Given the description of an element on the screen output the (x, y) to click on. 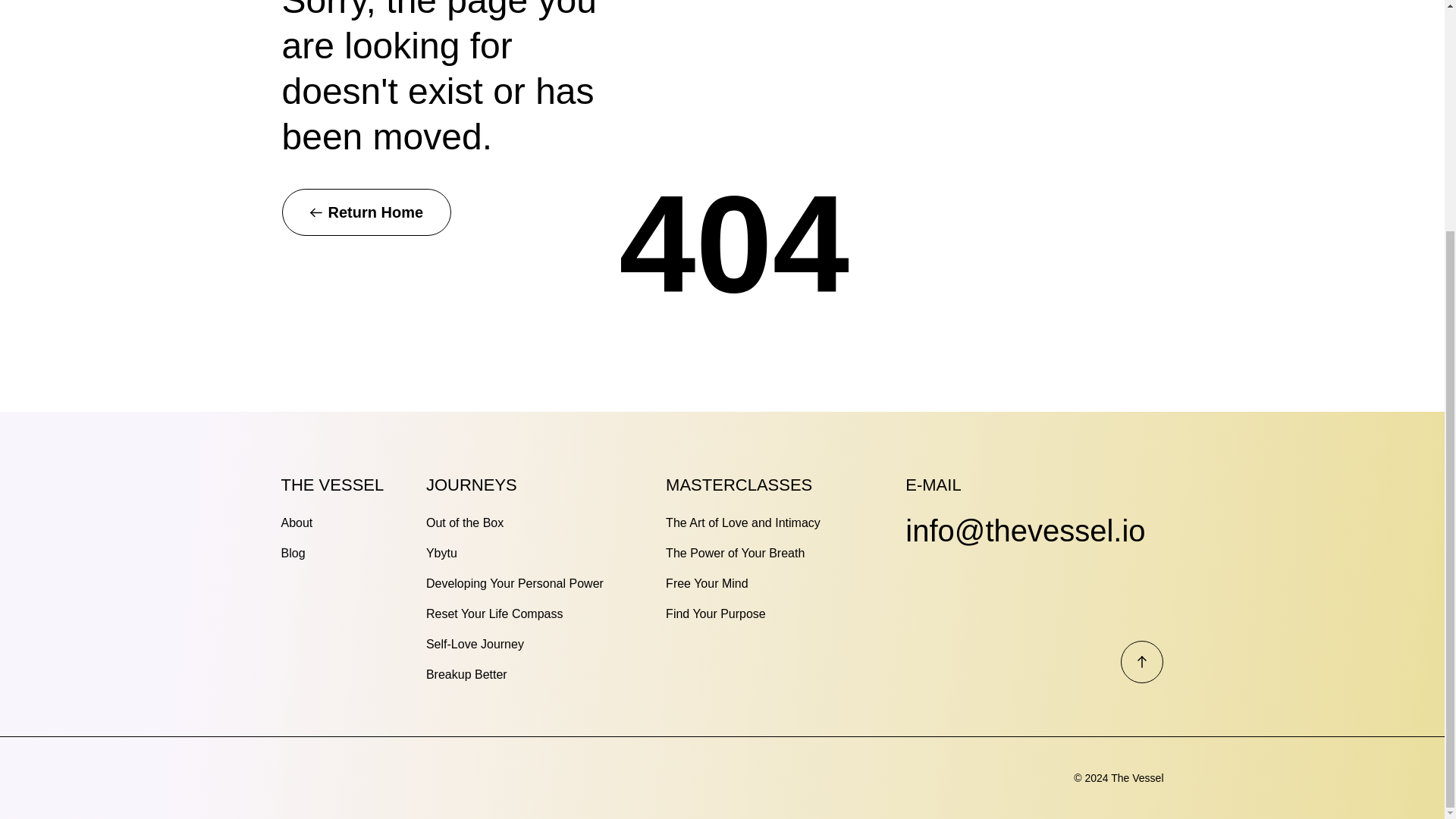
Out of the Box (464, 522)
Return Home (366, 212)
About (297, 522)
Ybytu (441, 553)
